Given the description of an element on the screen output the (x, y) to click on. 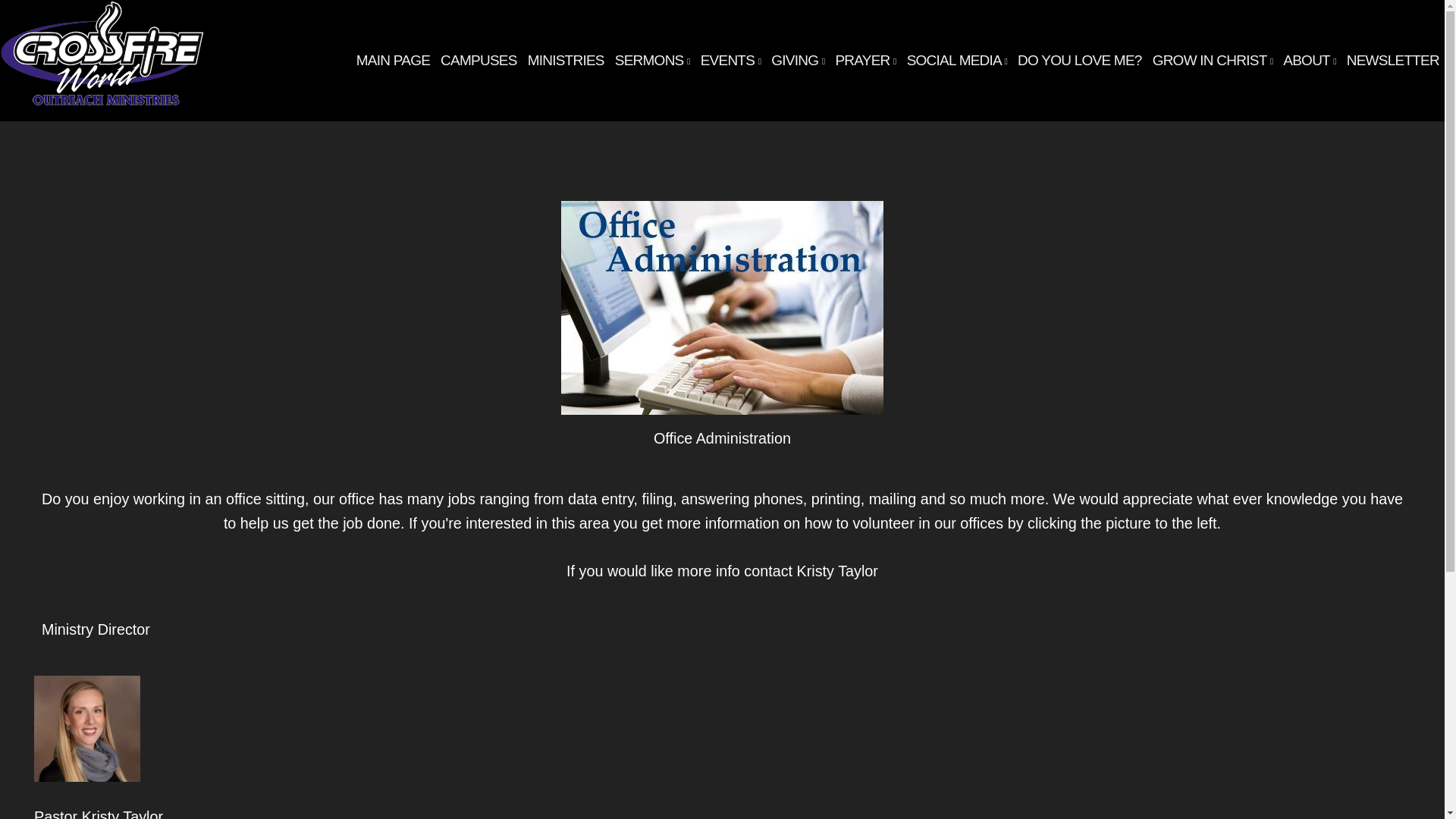
MINISTRIES (566, 60)
CAMPUSES (478, 60)
DO YOU LOVE ME? (1079, 60)
PRAYER  (865, 60)
GIVING  (797, 60)
SOCIAL MEDIA  (956, 60)
GROW IN CHRIST  (1212, 60)
EVENTS  (731, 60)
MAIN PAGE (392, 60)
ABOUT  (1309, 60)
